Given the description of an element on the screen output the (x, y) to click on. 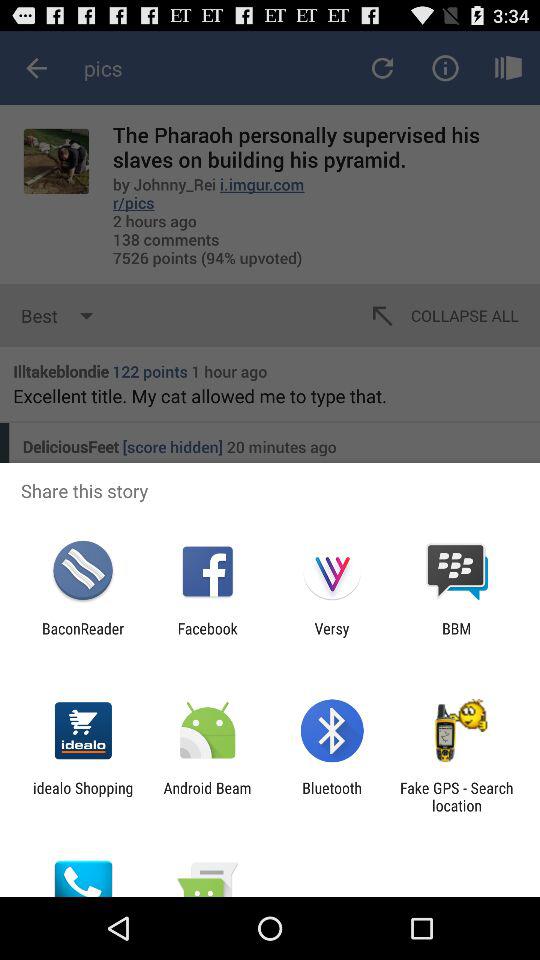
open the android beam (207, 796)
